Given the description of an element on the screen output the (x, y) to click on. 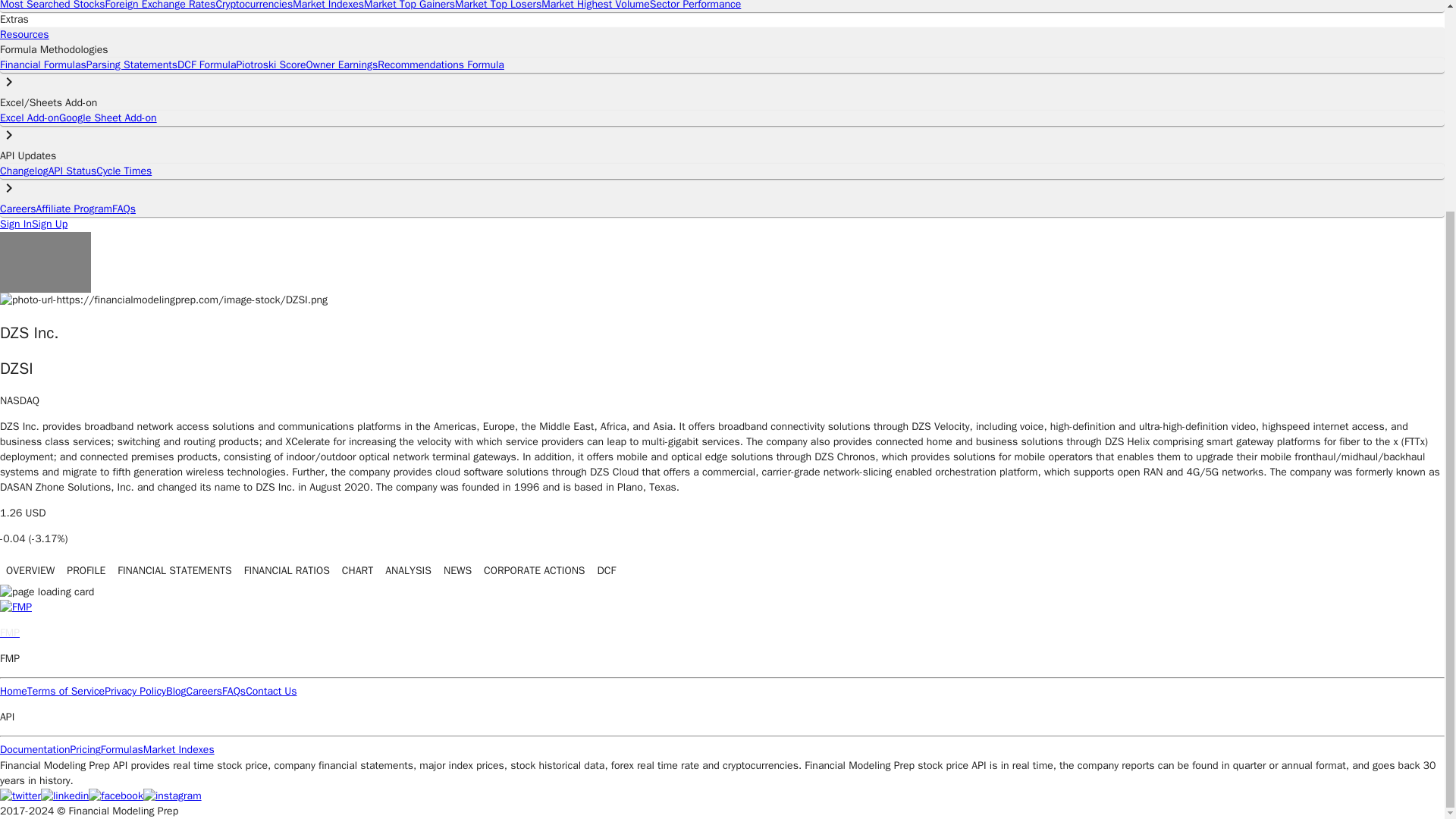
OVERVIEW (30, 571)
Financial Formulas (42, 64)
Affiliate Program (74, 208)
Careers (18, 208)
Cryptocurrencies (253, 5)
DCF Formula (206, 64)
Changelog (24, 170)
Piotroski Score (270, 64)
Sector Performance (695, 5)
Market Highest Volume (595, 5)
Resources (24, 33)
Market Top Gainers (409, 5)
Market Indexes (328, 5)
Recommendations Formula (440, 64)
Google Sheet Add-on (108, 117)
